Given the description of an element on the screen output the (x, y) to click on. 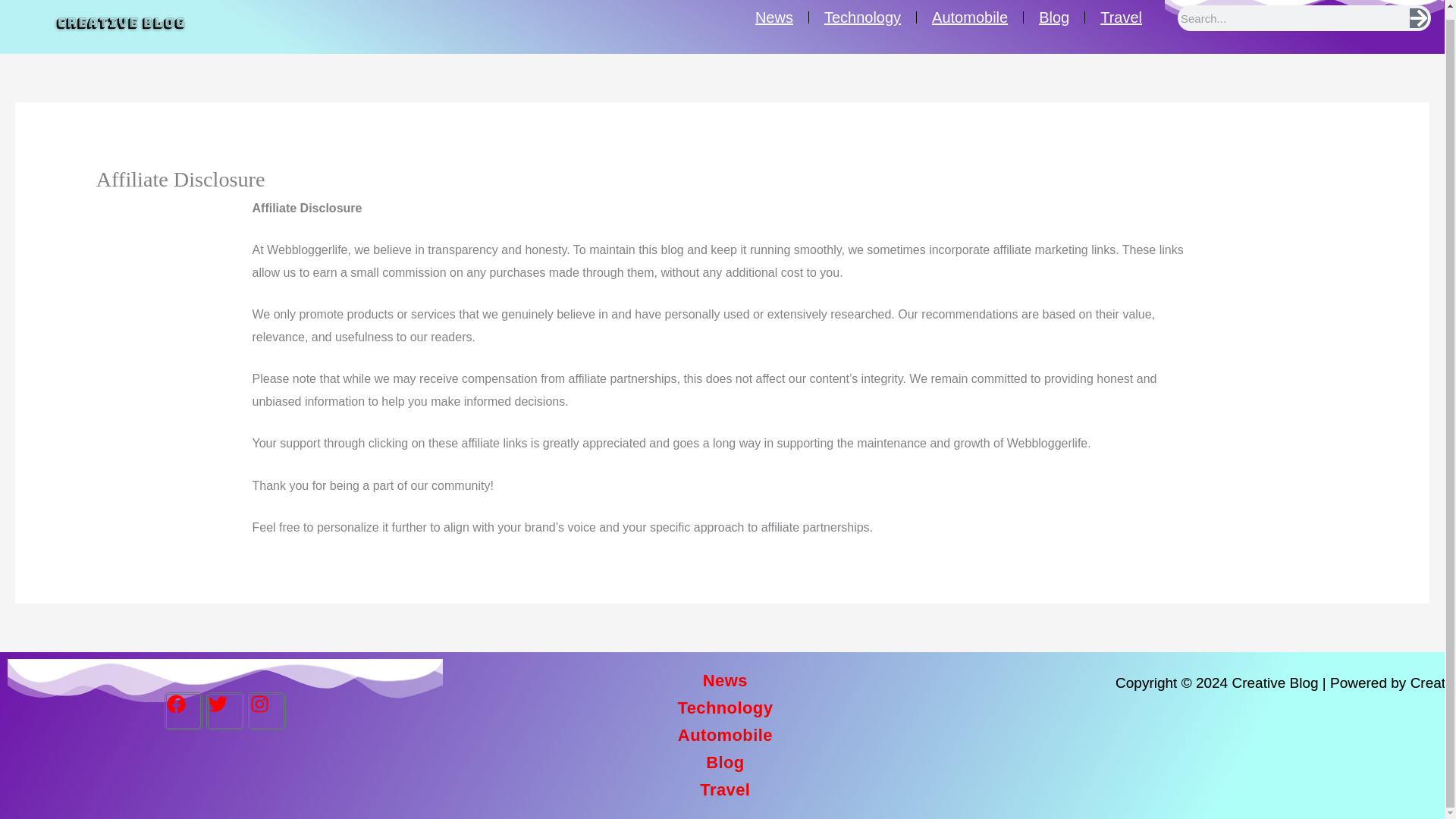
Travel (775, 782)
Travel (1042, 27)
Technology (952, 28)
Automobile (989, 27)
Instagram (266, 689)
News (913, 28)
Automobile (786, 738)
News (797, 698)
Search (1418, 17)
Technology (793, 718)
